Given the description of an element on the screen output the (x, y) to click on. 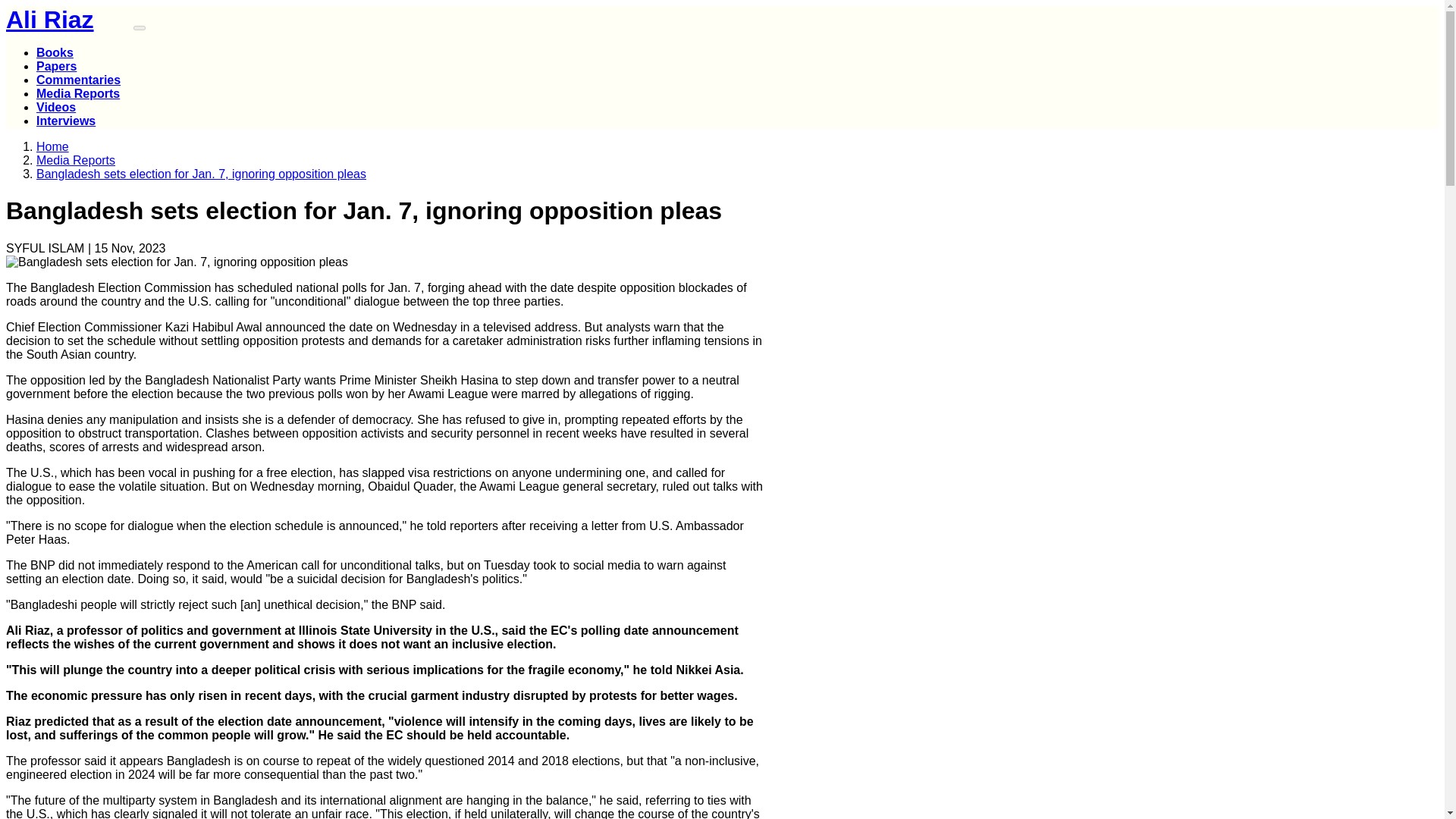
Home (52, 146)
Videos (55, 106)
Ali Riaz (68, 19)
Commentaries (78, 79)
Media Reports (77, 92)
Papers (56, 65)
Books (55, 51)
Media Reports (75, 160)
Interviews (66, 120)
